Given the description of an element on the screen output the (x, y) to click on. 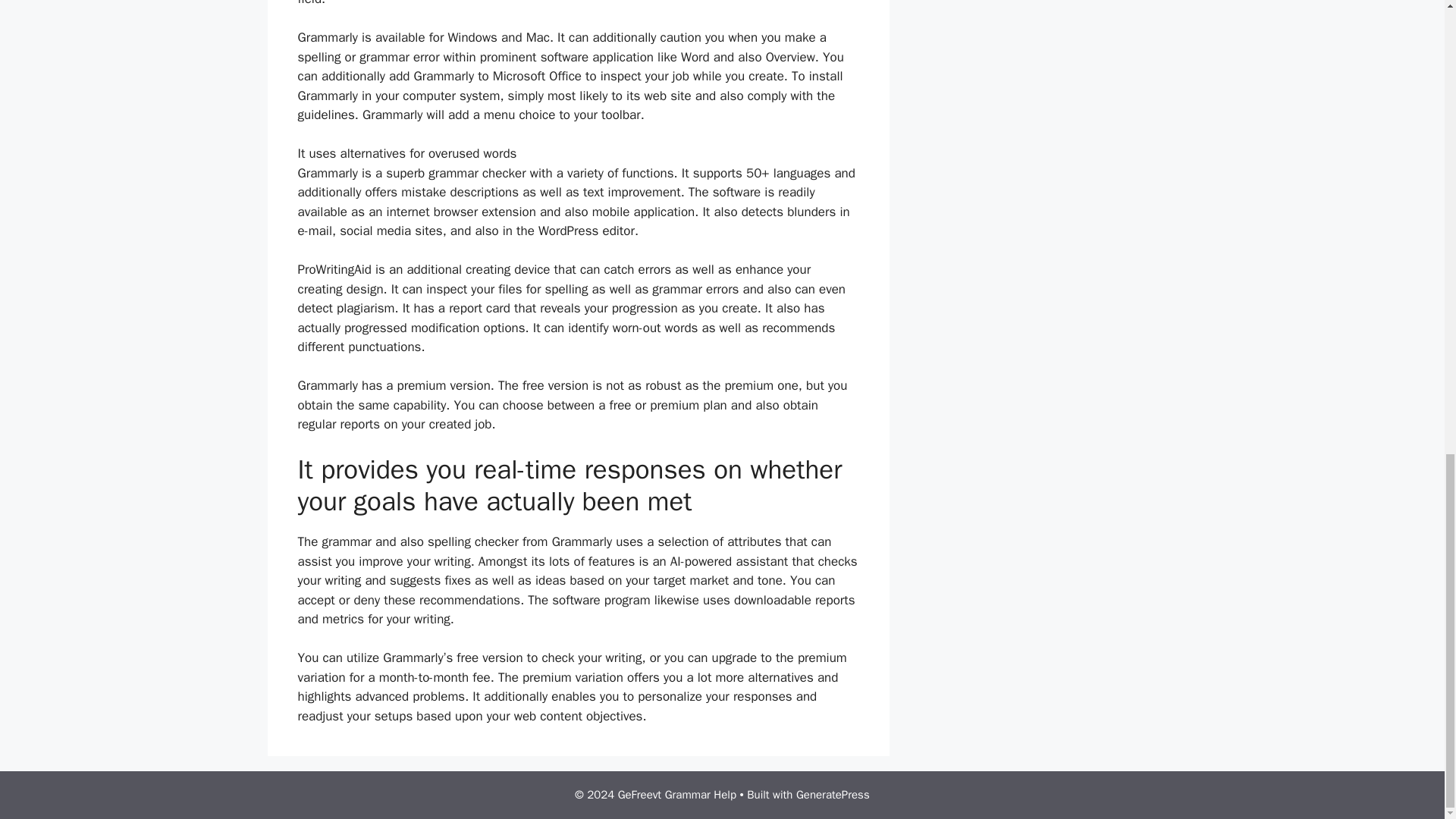
GeneratePress (832, 794)
